Given the description of an element on the screen output the (x, y) to click on. 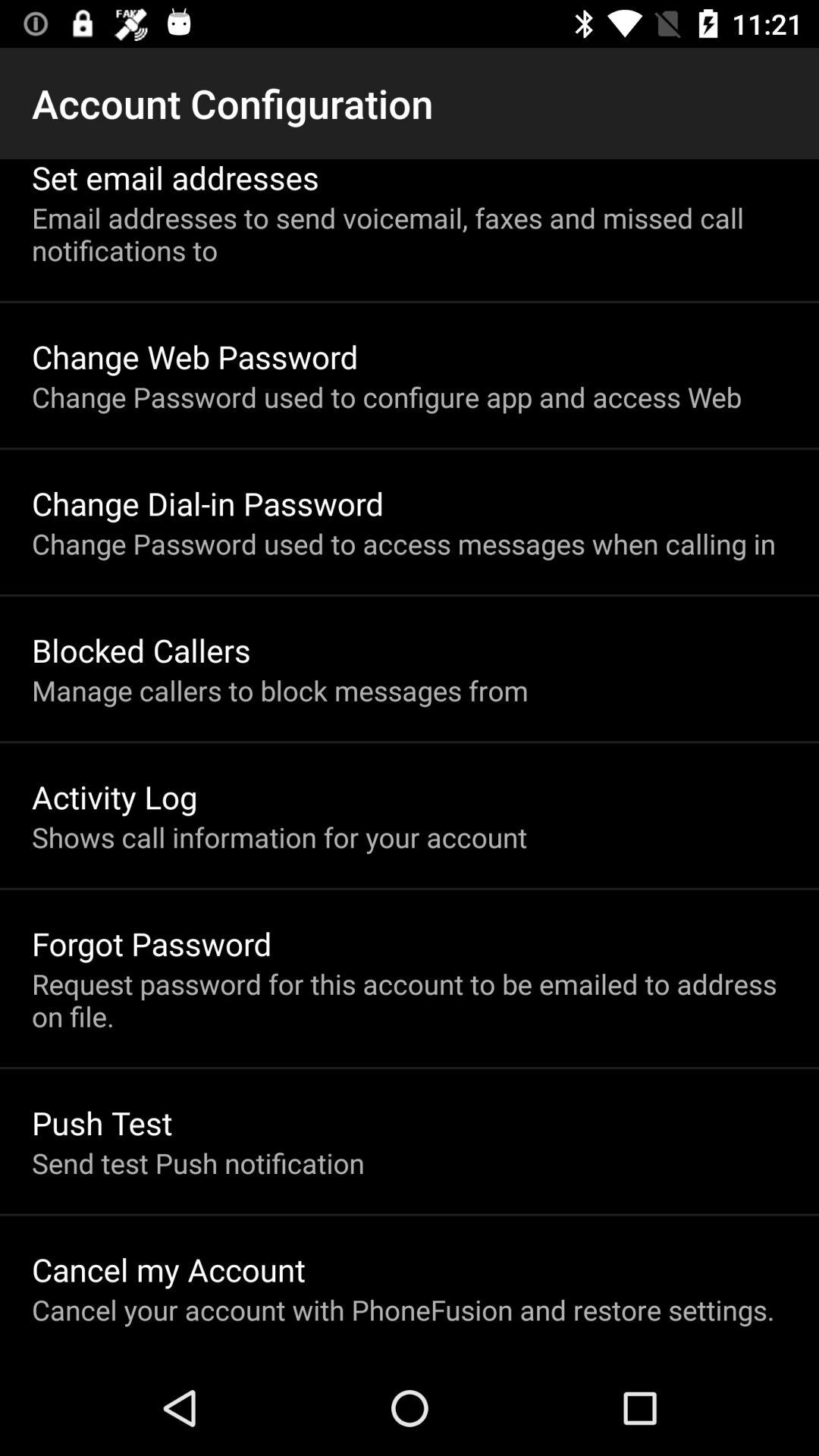
select the icon above push test (409, 1000)
